Given the description of an element on the screen output the (x, y) to click on. 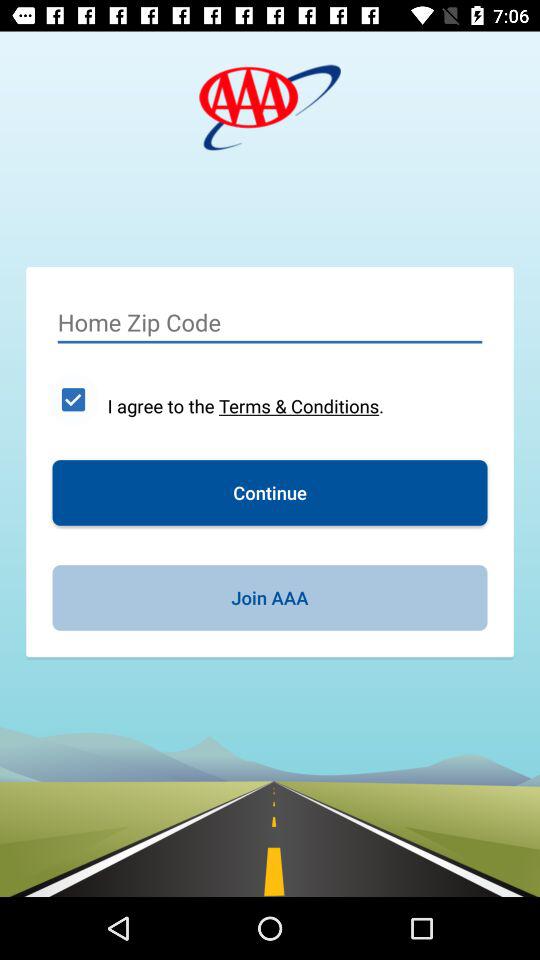
turn off the icon below the continue icon (269, 597)
